Given the description of an element on the screen output the (x, y) to click on. 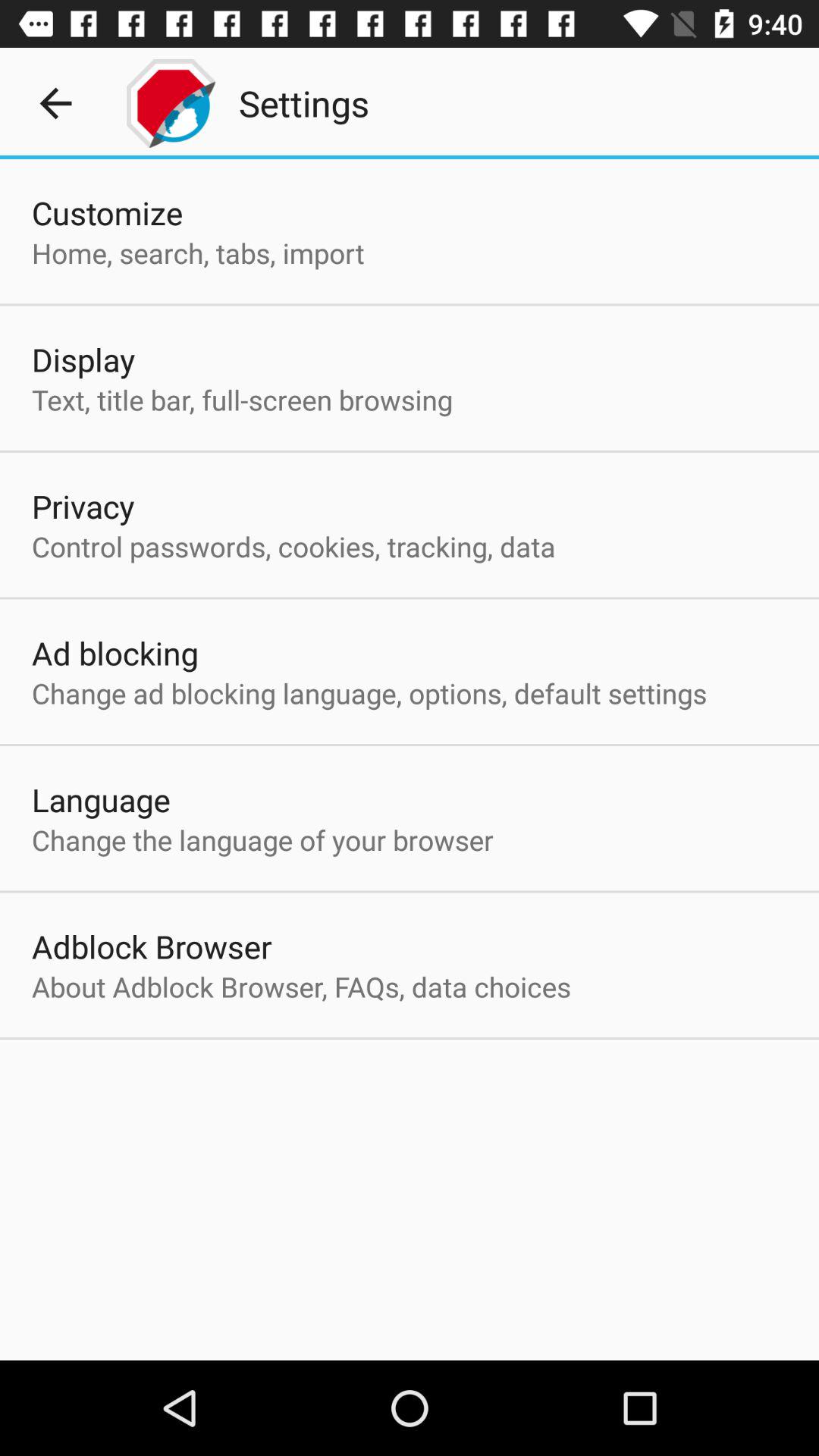
swipe until the control passwords cookies (293, 546)
